Given the description of an element on the screen output the (x, y) to click on. 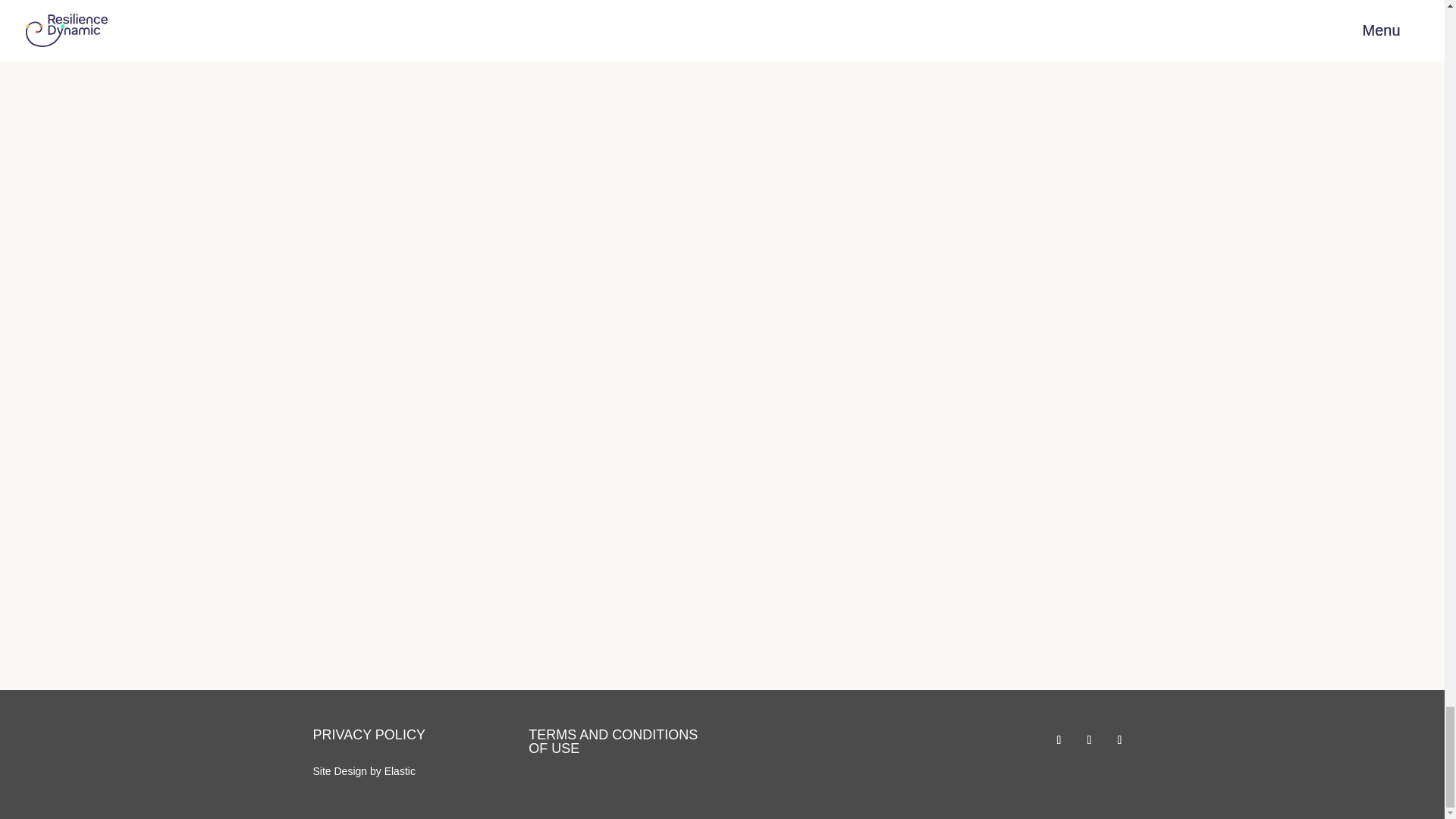
Follow on Youtube (1118, 740)
Follow on Twitter (1058, 740)
Follow on LinkedIn (1088, 740)
